Given the description of an element on the screen output the (x, y) to click on. 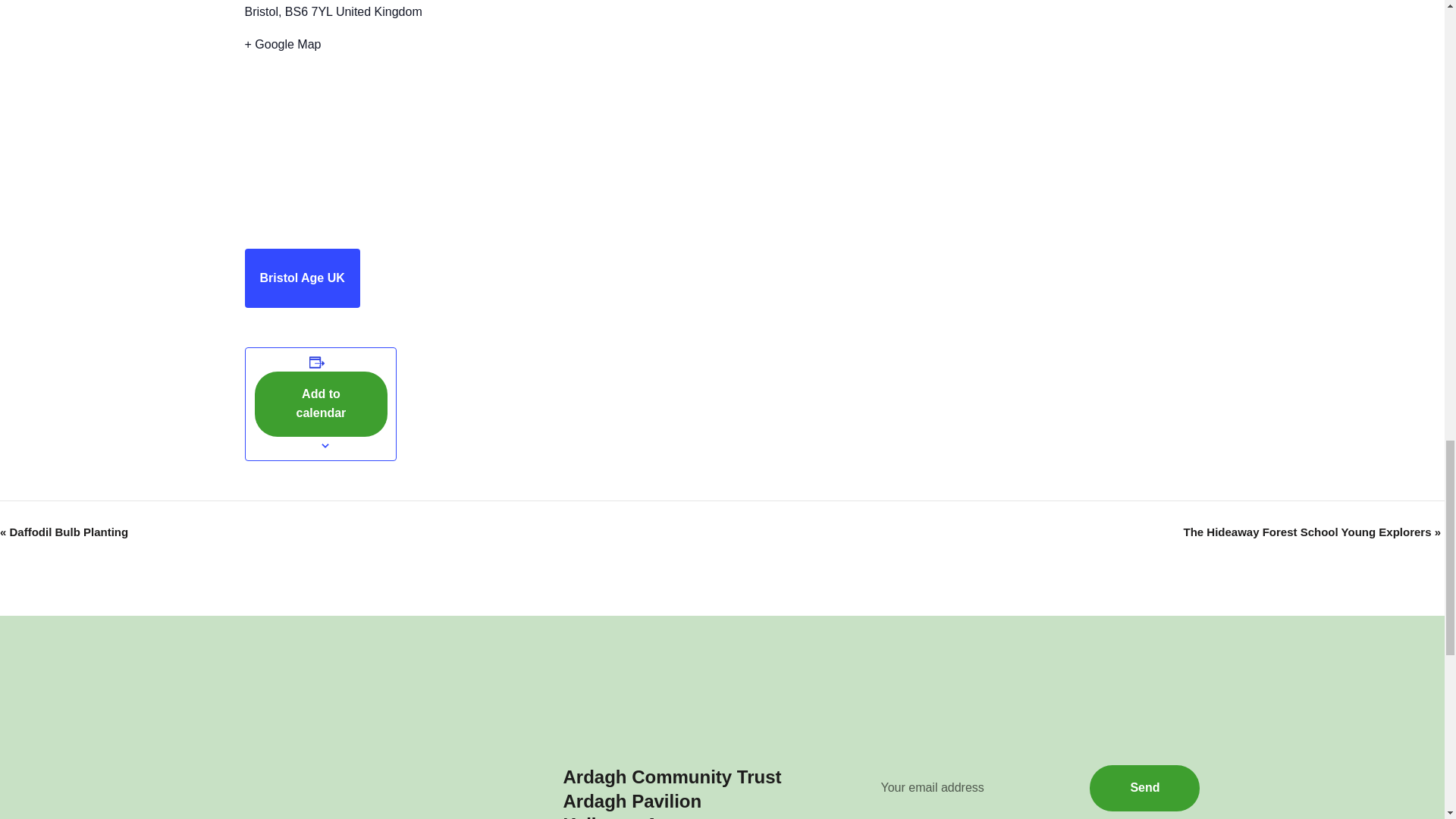
Click to view a Google Map (411, 44)
